Given the description of an element on the screen output the (x, y) to click on. 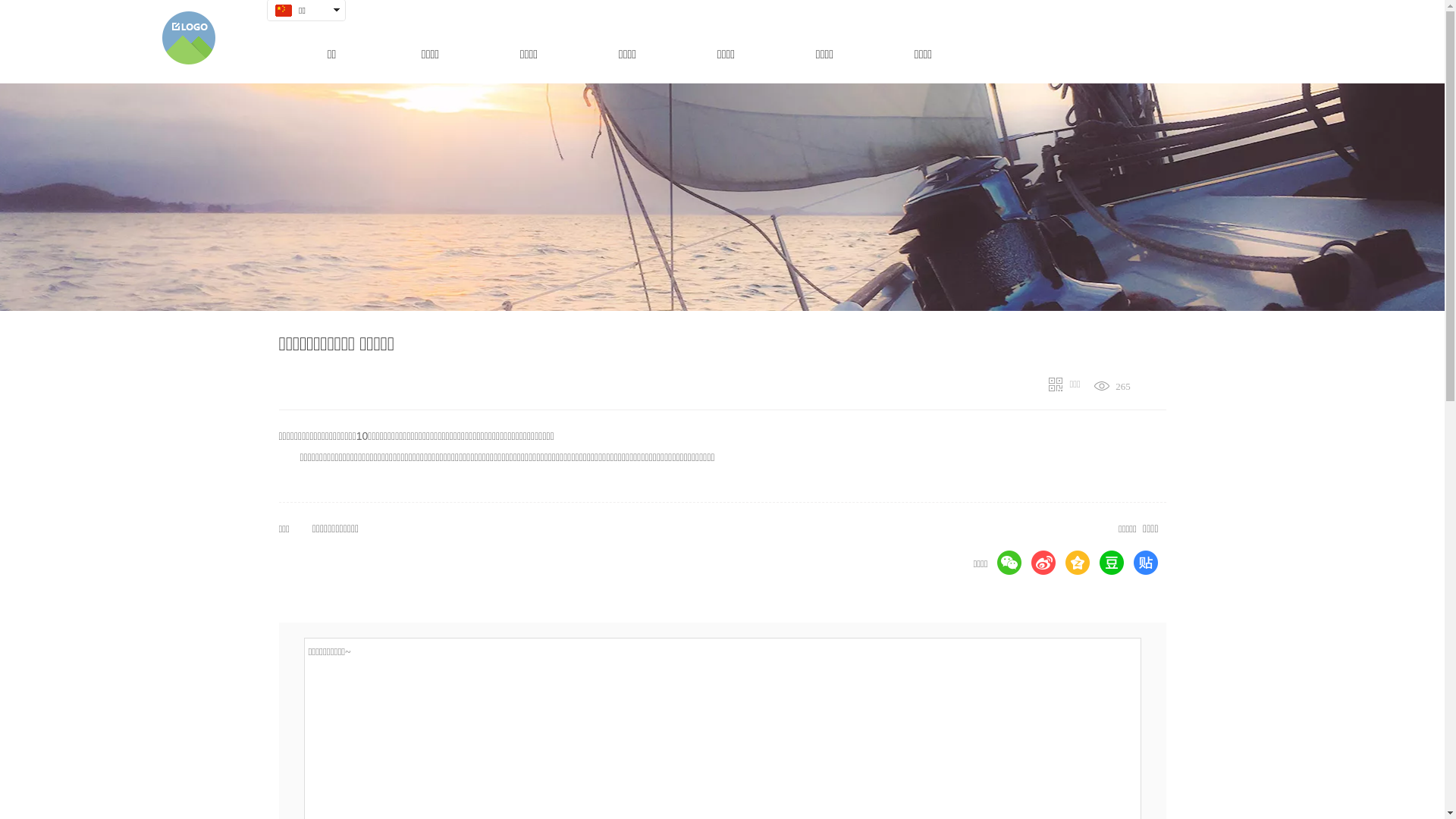
  Element type: text (300, 30)
